Given the description of an element on the screen output the (x, y) to click on. 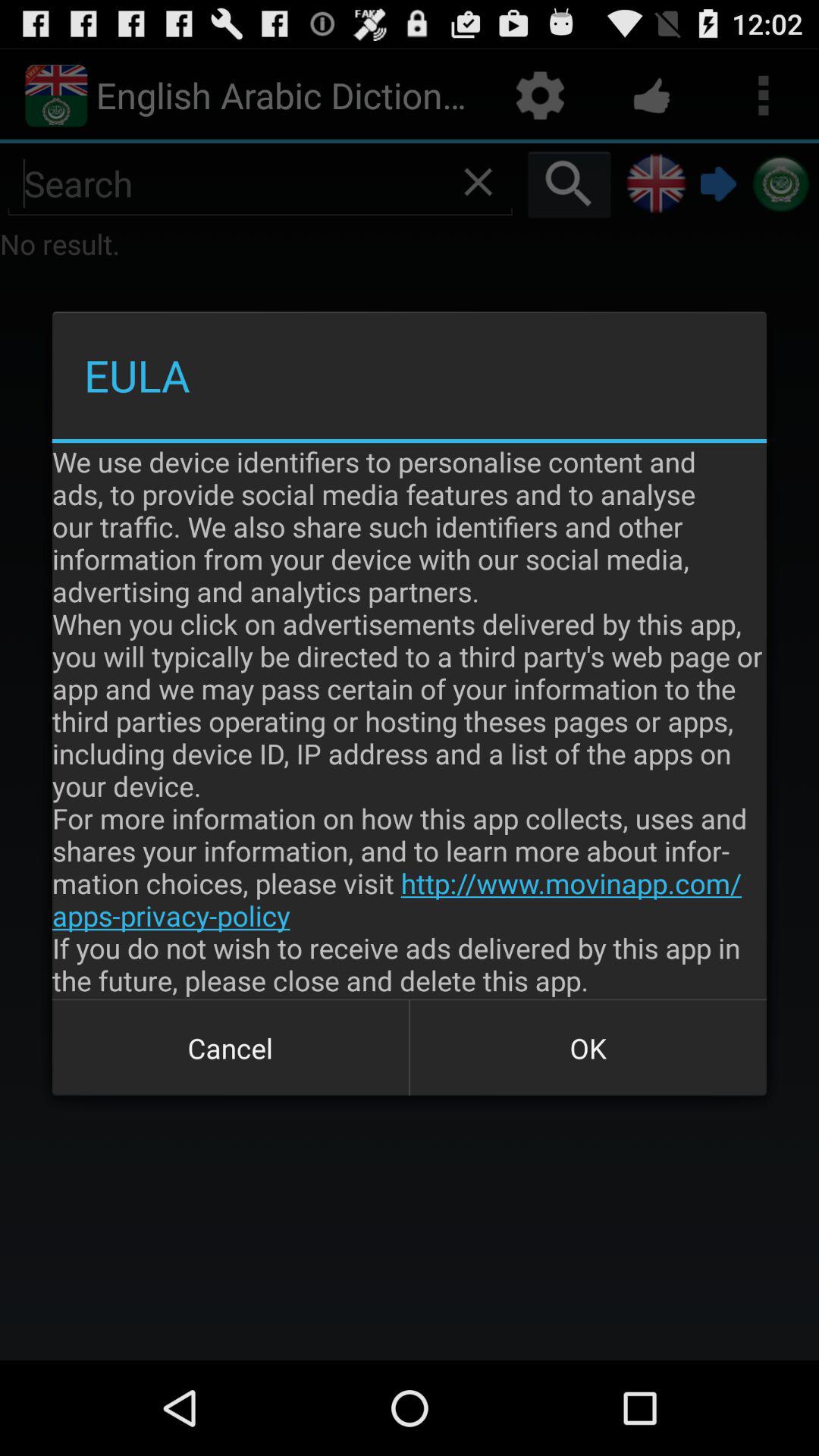
tap item to the right of cancel (588, 1047)
